Given the description of an element on the screen output the (x, y) to click on. 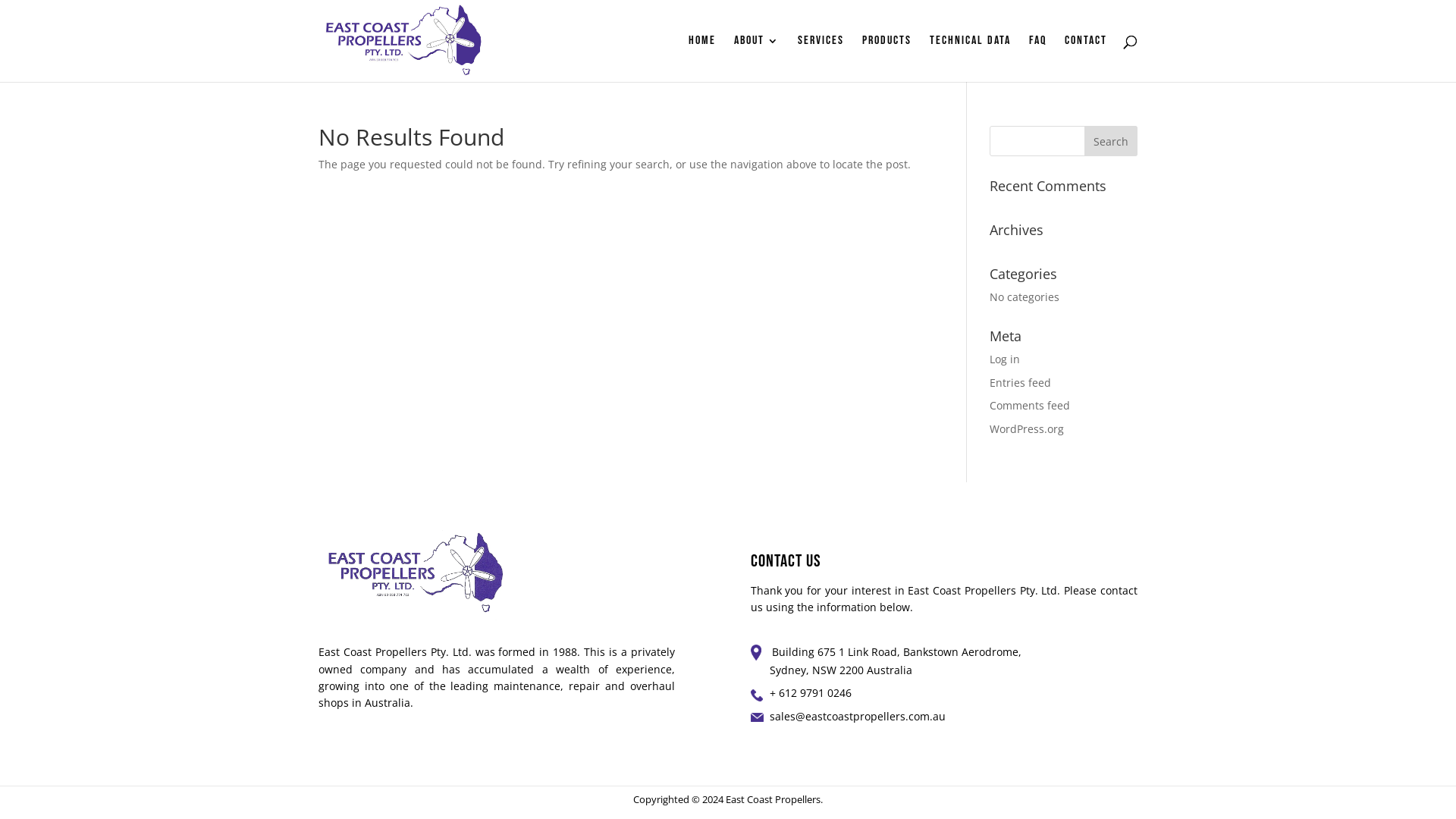
sales@eastcoastpropellers.com.au Element type: text (857, 716)
Contact Element type: text (1085, 58)
Services Element type: text (820, 58)
+ 612 9791 0246 Element type: text (810, 692)
Logo - Blue Element type: hover (414, 573)
WordPress.org Element type: text (1026, 428)
Log in Element type: text (1004, 358)
Comments feed Element type: text (1029, 405)
FAQ Element type: text (1037, 58)
Entries feed Element type: text (1020, 382)
Search Element type: text (1110, 140)
About Element type: text (756, 58)
Products Element type: text (886, 58)
Technical Data Element type: text (969, 58)
Home Element type: text (701, 58)
